Given the description of an element on the screen output the (x, y) to click on. 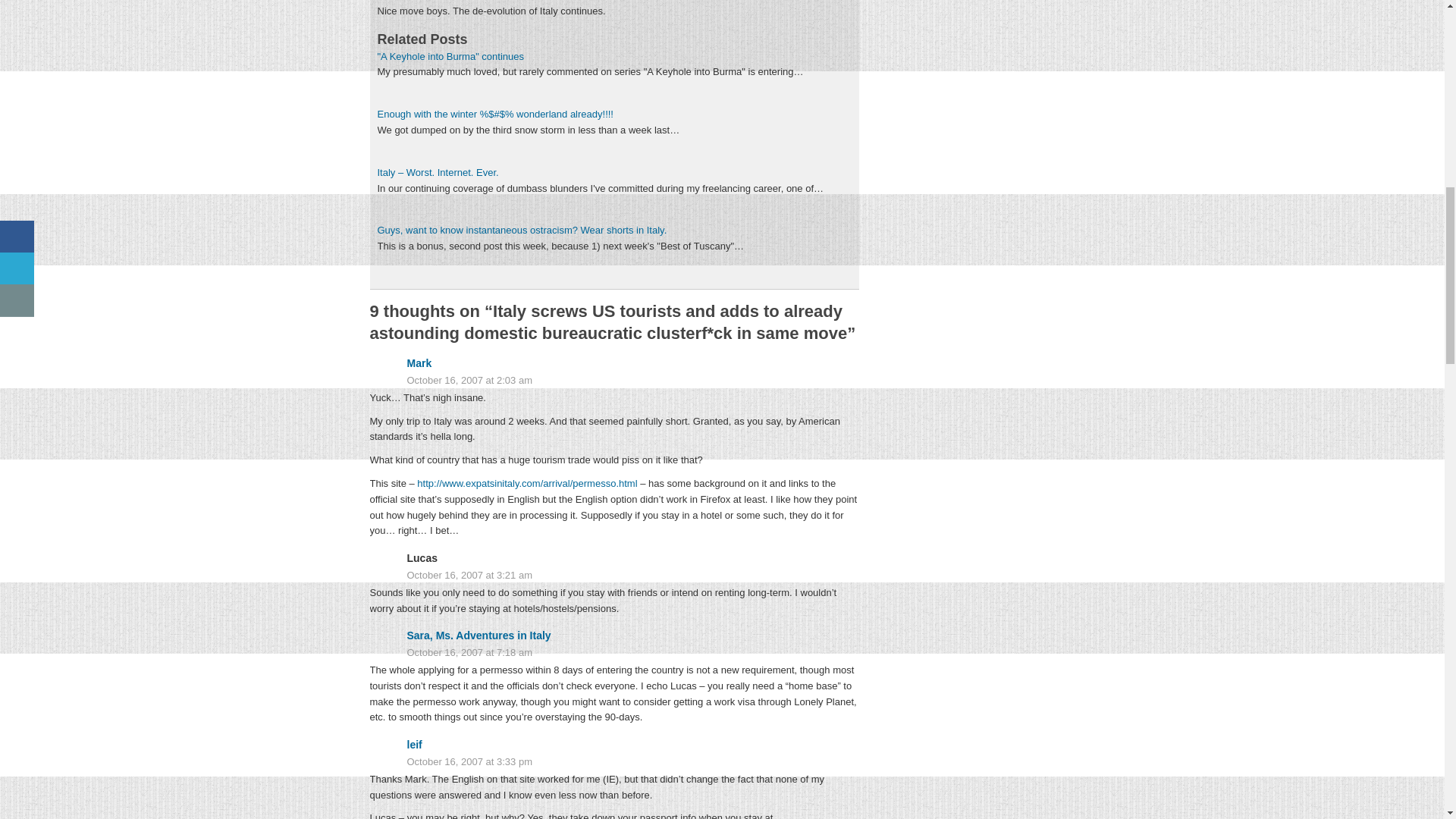
leif (414, 744)
October 16, 2007 at 3:21 am (614, 575)
October 16, 2007 at 7:18 am (614, 652)
"A Keyhole into Burma" continues (450, 56)
October 16, 2007 at 2:03 am (614, 381)
October 16, 2007 at 3:33 pm (614, 762)
Sara, Ms. Adventures in Italy (478, 635)
Mark (418, 363)
